Given the description of an element on the screen output the (x, y) to click on. 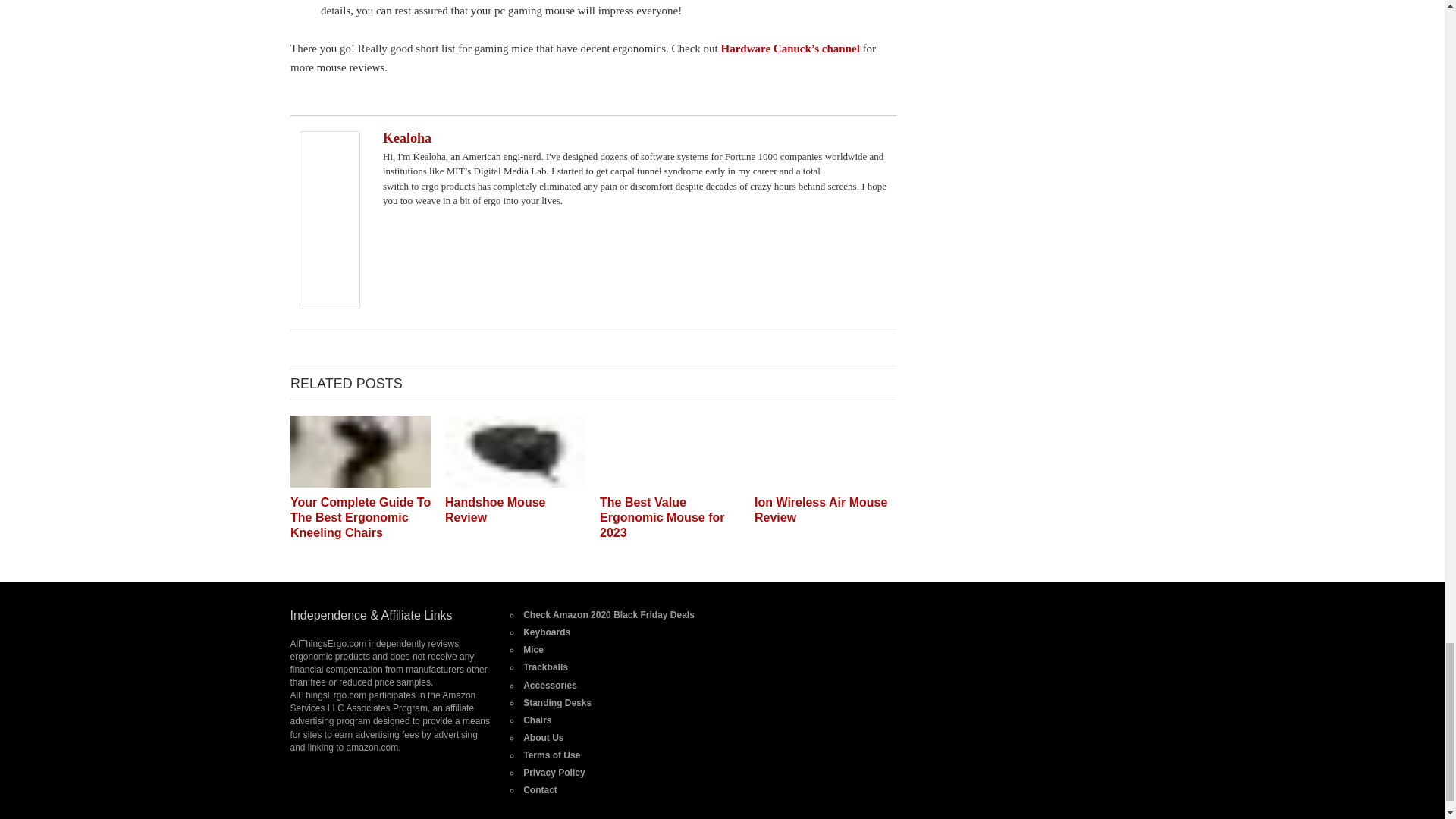
Handshoe Mouse Review (514, 483)
Ion Wireless Air Mouse Review (820, 510)
The Best Value Ergonomic Mouse for 2023 (660, 517)
Ion Wireless Air Mouse Review (823, 483)
Your Complete Guide To The Best Ergonomic Kneeling Chairs (359, 483)
Handshoe Mouse Review (494, 510)
Kealoha (405, 137)
The Best Value Ergonomic Mouse for 2023 (668, 483)
Your Complete Guide To The Best Ergonomic Kneeling Chairs (359, 517)
Kealoha (328, 305)
